Given the description of an element on the screen output the (x, y) to click on. 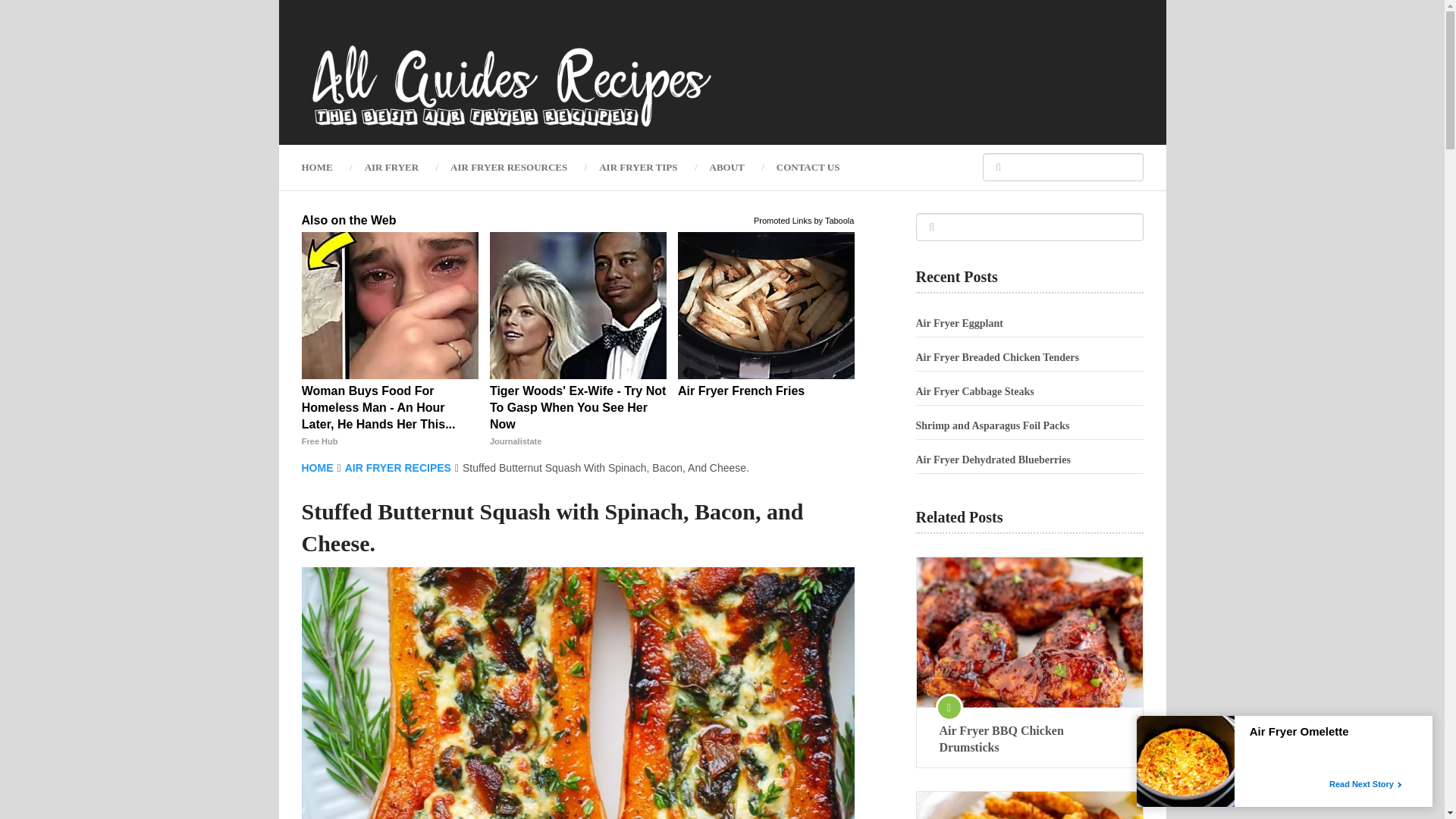
AIR FRYER (391, 167)
Tiger Woods' Ex-Wife - Try Not To Gasp When You See Her Now (577, 416)
CONTACT US (808, 167)
ABOUT (727, 167)
AIR FRYER TIPS (638, 167)
Promoted Links (782, 219)
HOME (317, 467)
Air Fryer French Fries (766, 391)
AIR FRYER RESOURCES (508, 167)
by Taboola (833, 219)
Air Fryer French Fries (766, 391)
AIR FRYER RECIPES (398, 467)
HOME (325, 167)
